Given the description of an element on the screen output the (x, y) to click on. 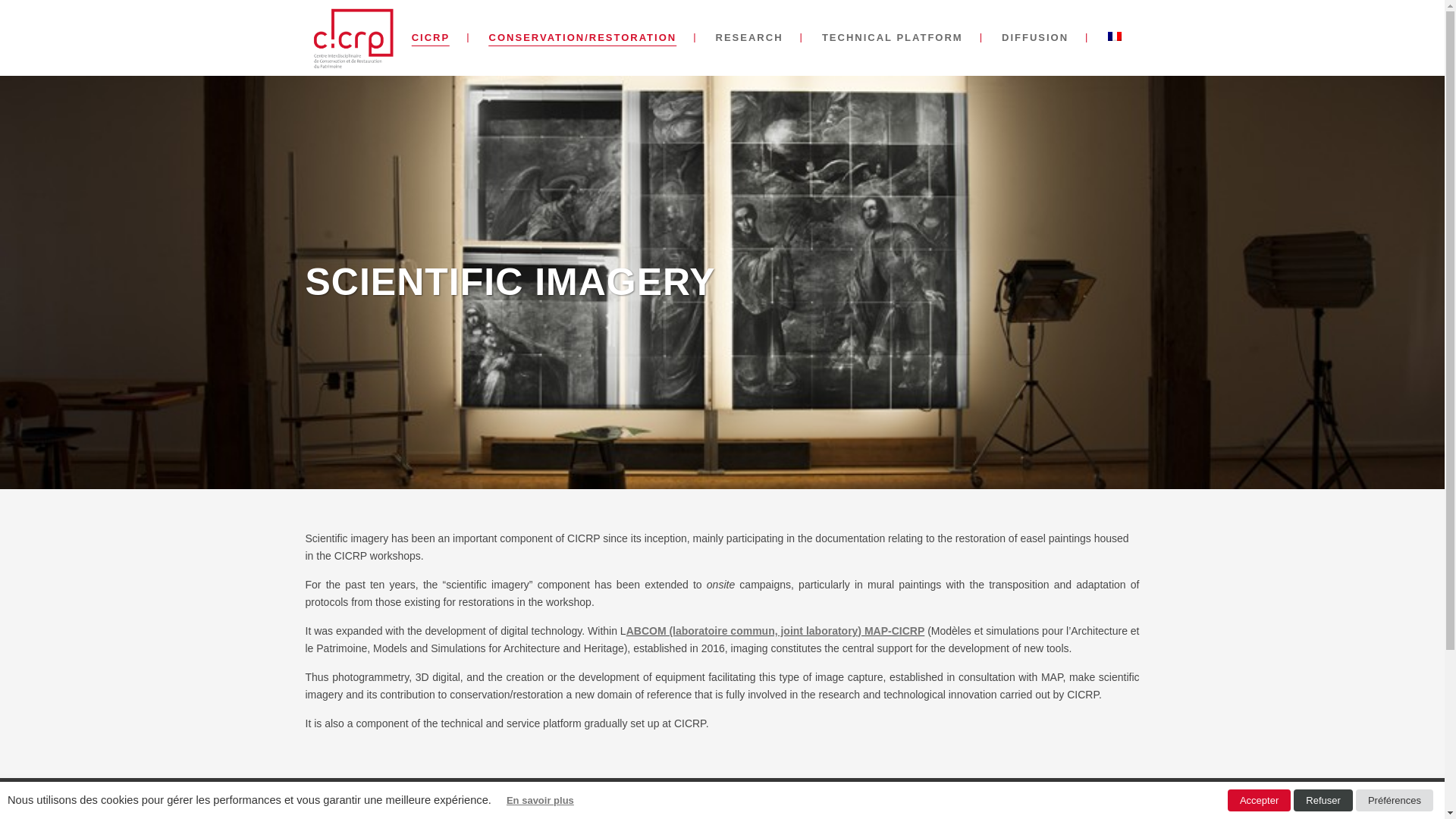
CICRP (430, 38)
TECHNICAL PLATFORM (892, 38)
DIFFUSION (1035, 38)
RESEARCH (749, 38)
